Given the description of an element on the screen output the (x, y) to click on. 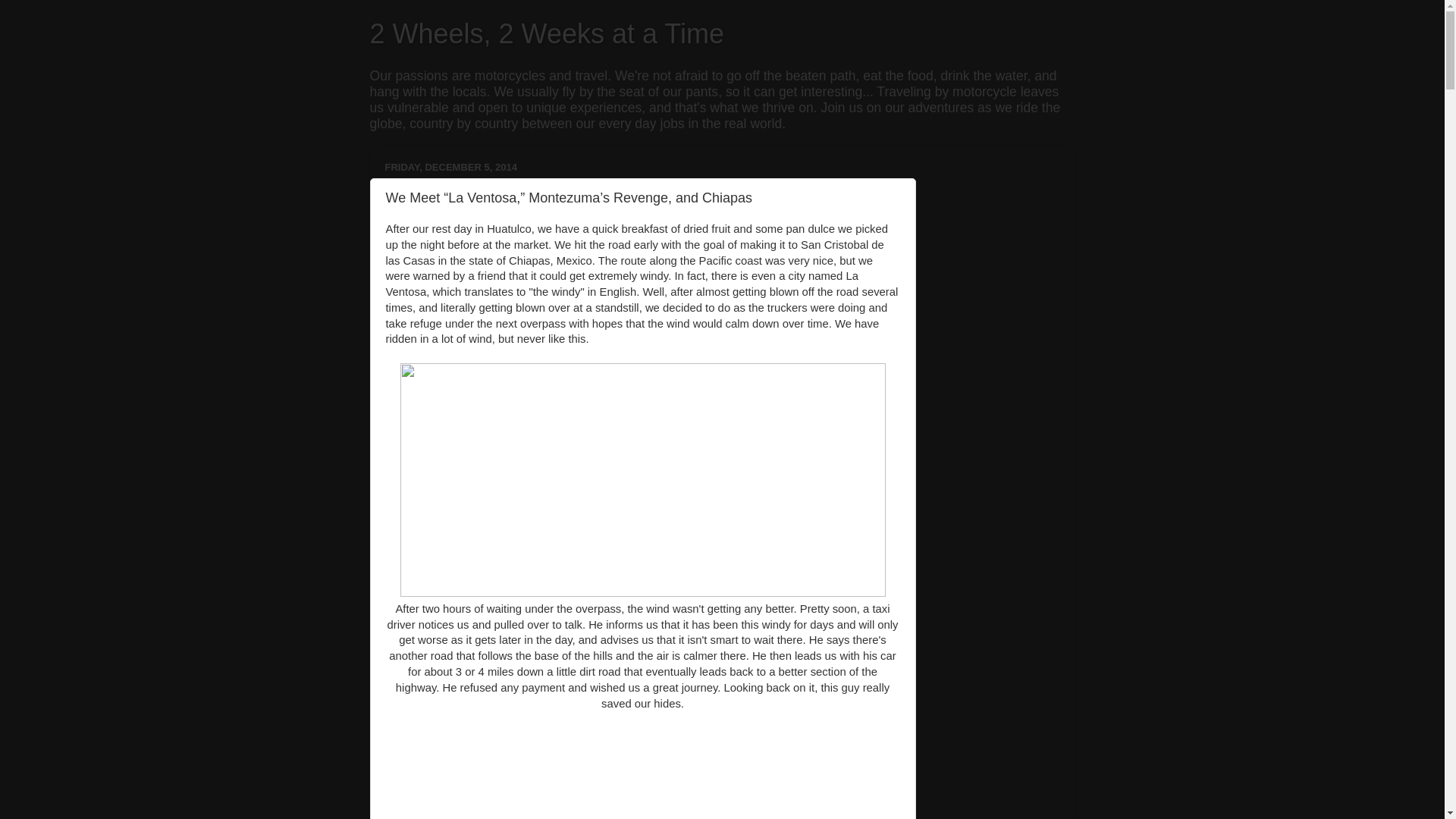
2 Wheels, 2 Weeks at a Time Element type: text (547, 33)
